Given the description of an element on the screen output the (x, y) to click on. 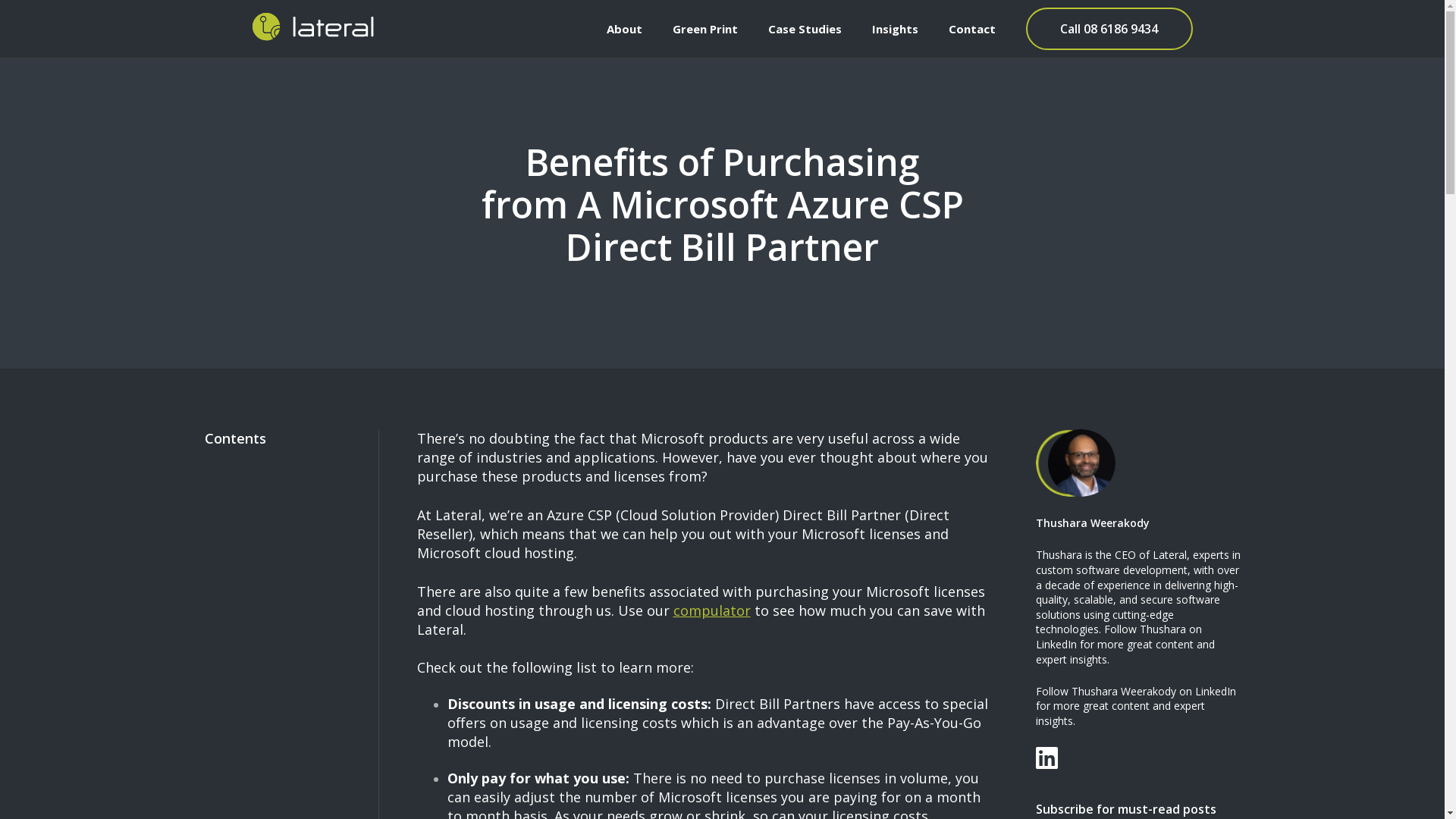
Lateral Logo Element type: hover (312, 26)
About Element type: text (624, 29)
Green Print Element type: text (704, 29)
Contact Element type: text (970, 29)
compulator Element type: text (711, 610)
Insights Element type: text (895, 29)
Call 08 6186 9434 Element type: text (1108, 28)
Case Studies Element type: text (803, 29)
